Given the description of an element on the screen output the (x, y) to click on. 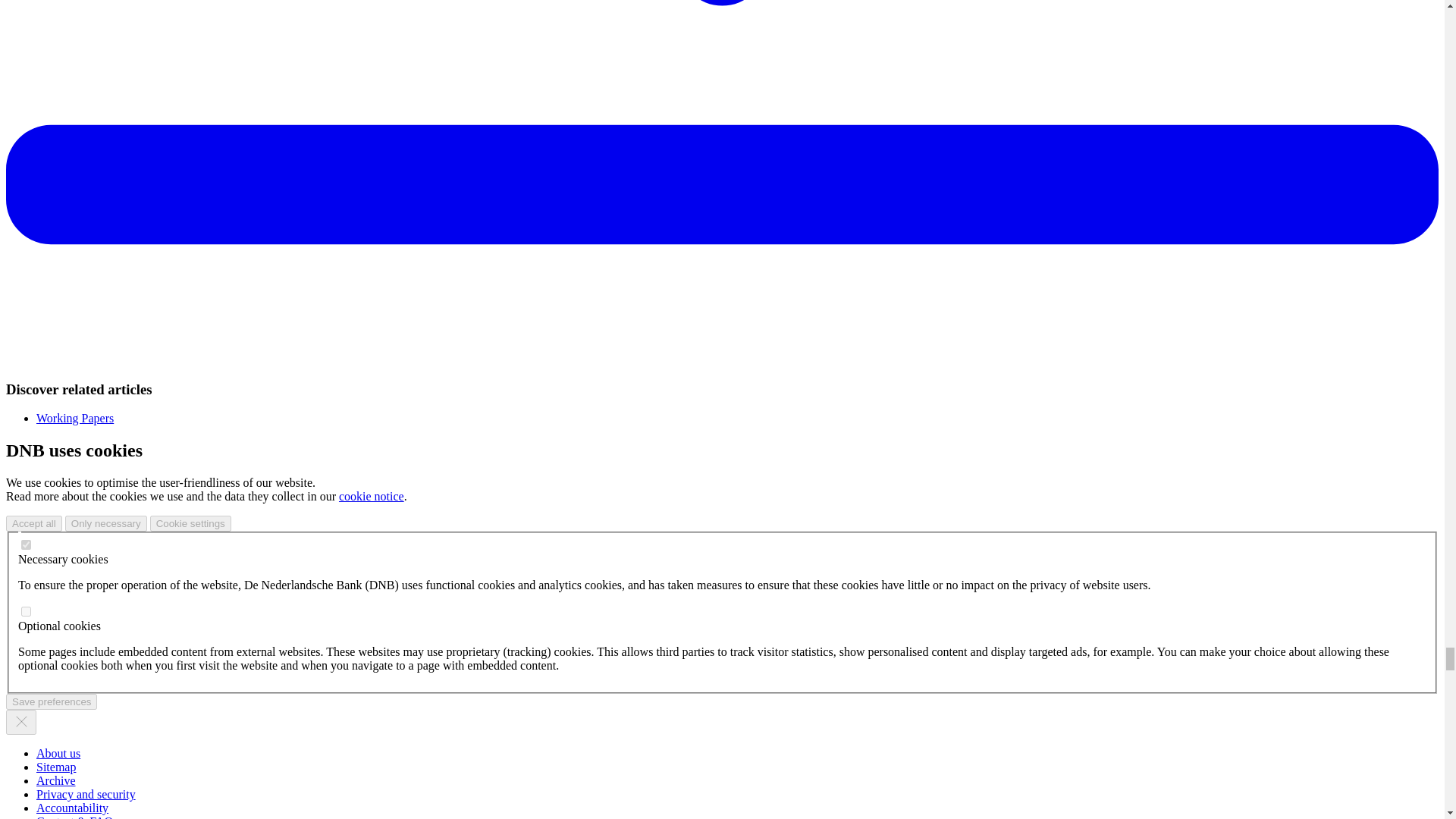
Privacy and security (85, 793)
Functional (25, 544)
Sitemap (55, 766)
Embed (25, 611)
Cookie-notice (371, 495)
About us (58, 753)
Accountability (71, 807)
Archive (55, 780)
